Given the description of an element on the screen output the (x, y) to click on. 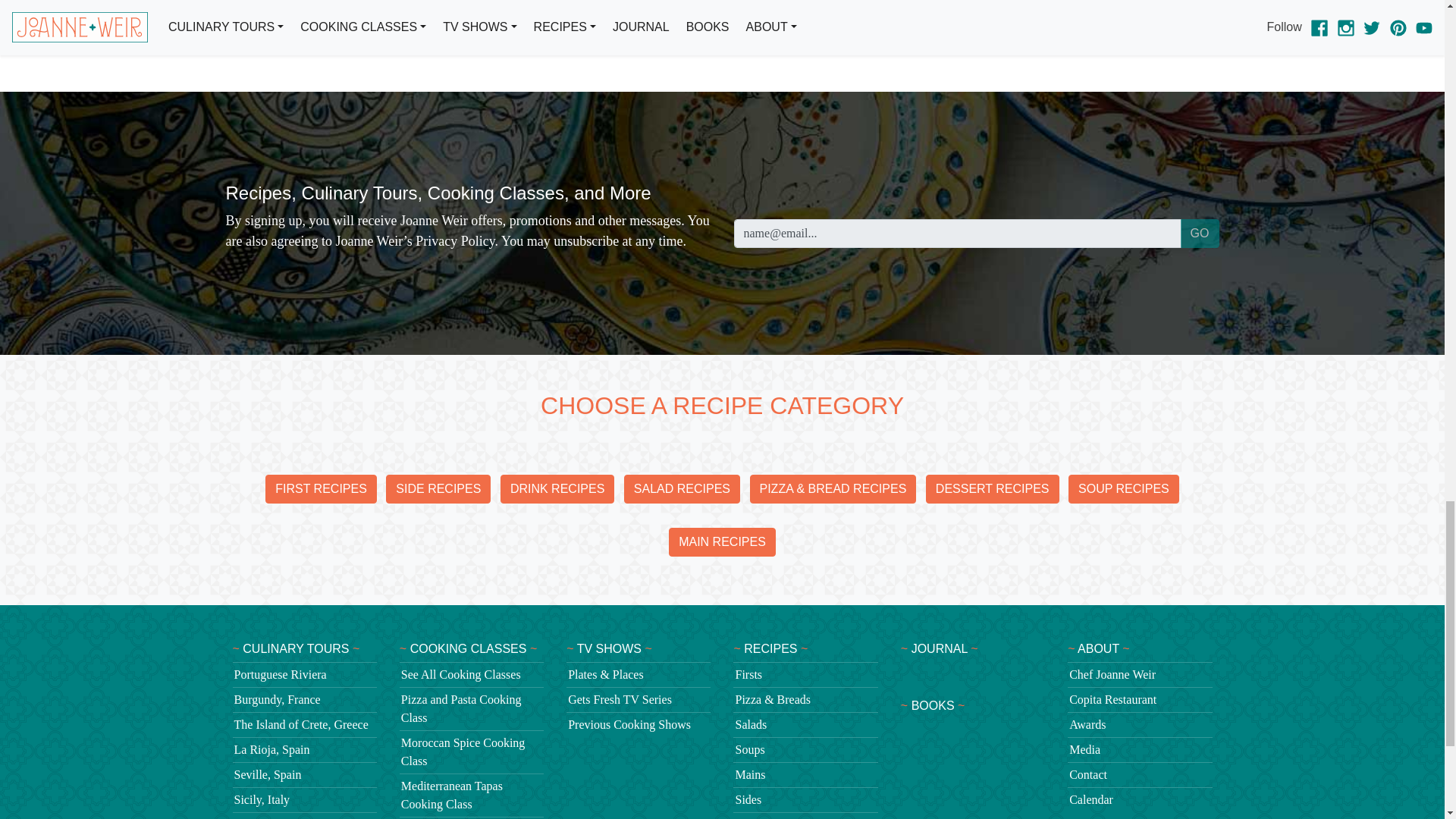
Go (1200, 233)
